Given the description of an element on the screen output the (x, y) to click on. 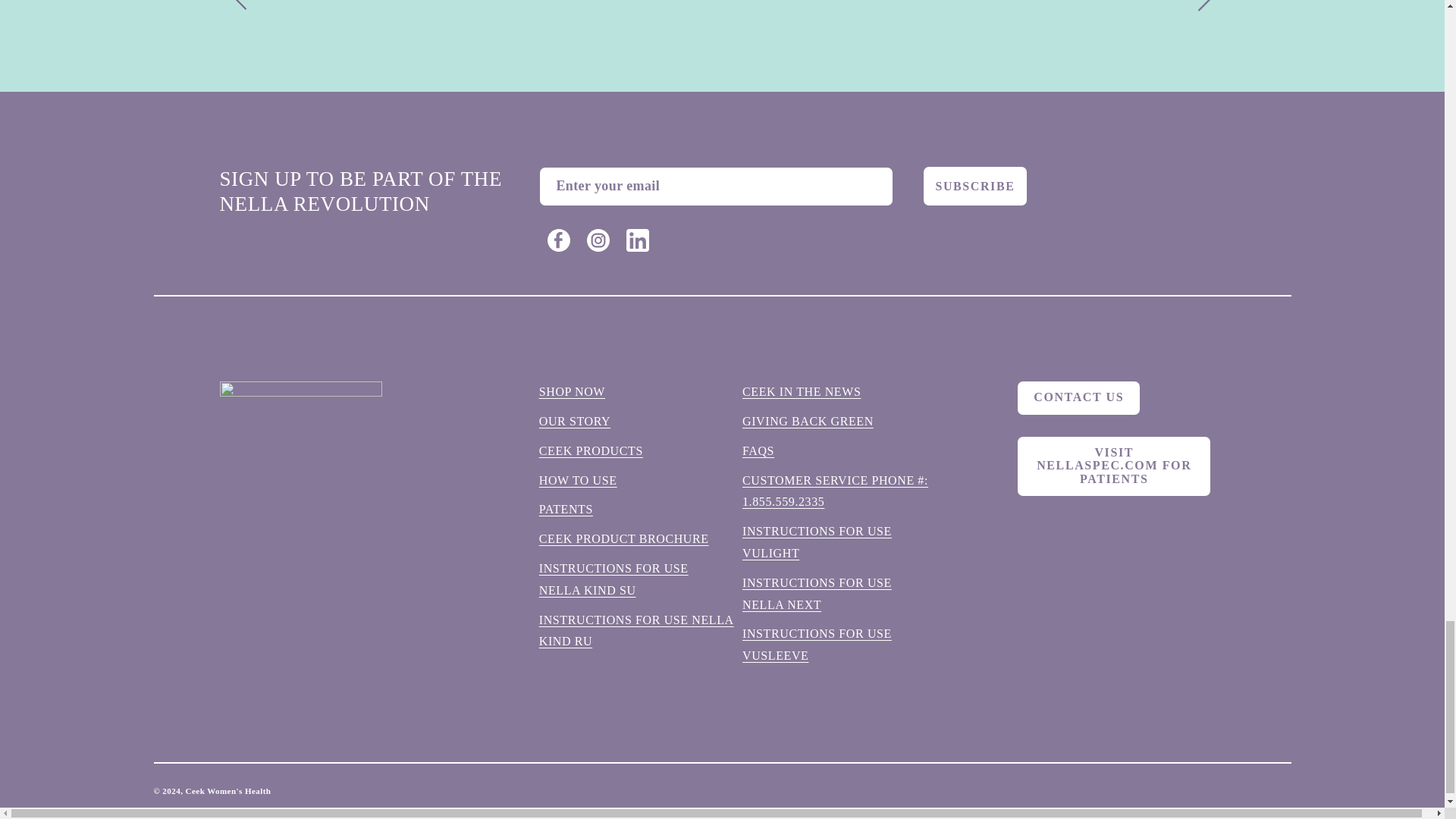
Contact Us (1078, 397)
